Given the description of an element on the screen output the (x, y) to click on. 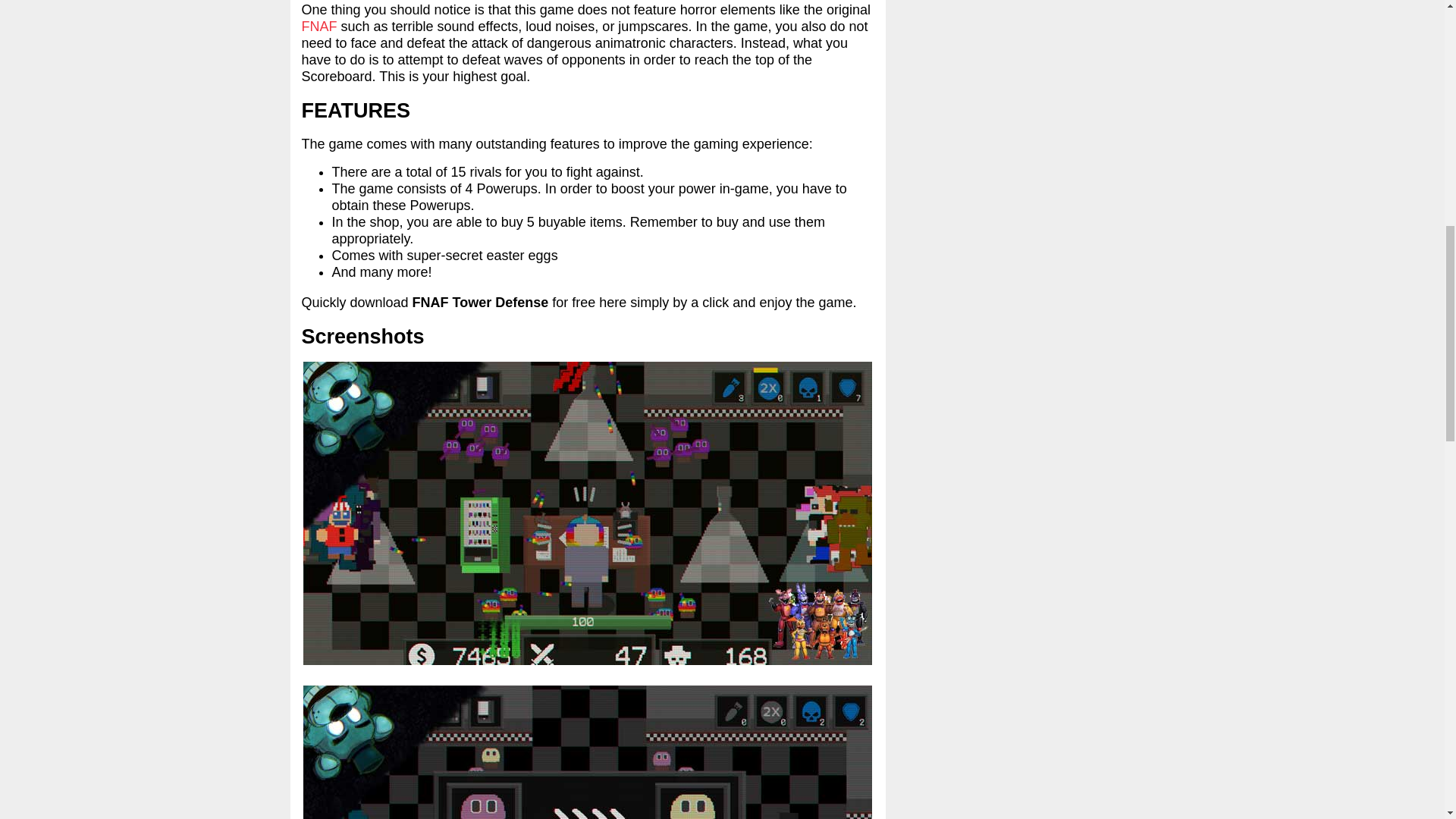
FNAF (319, 26)
